Given the description of an element on the screen output the (x, y) to click on. 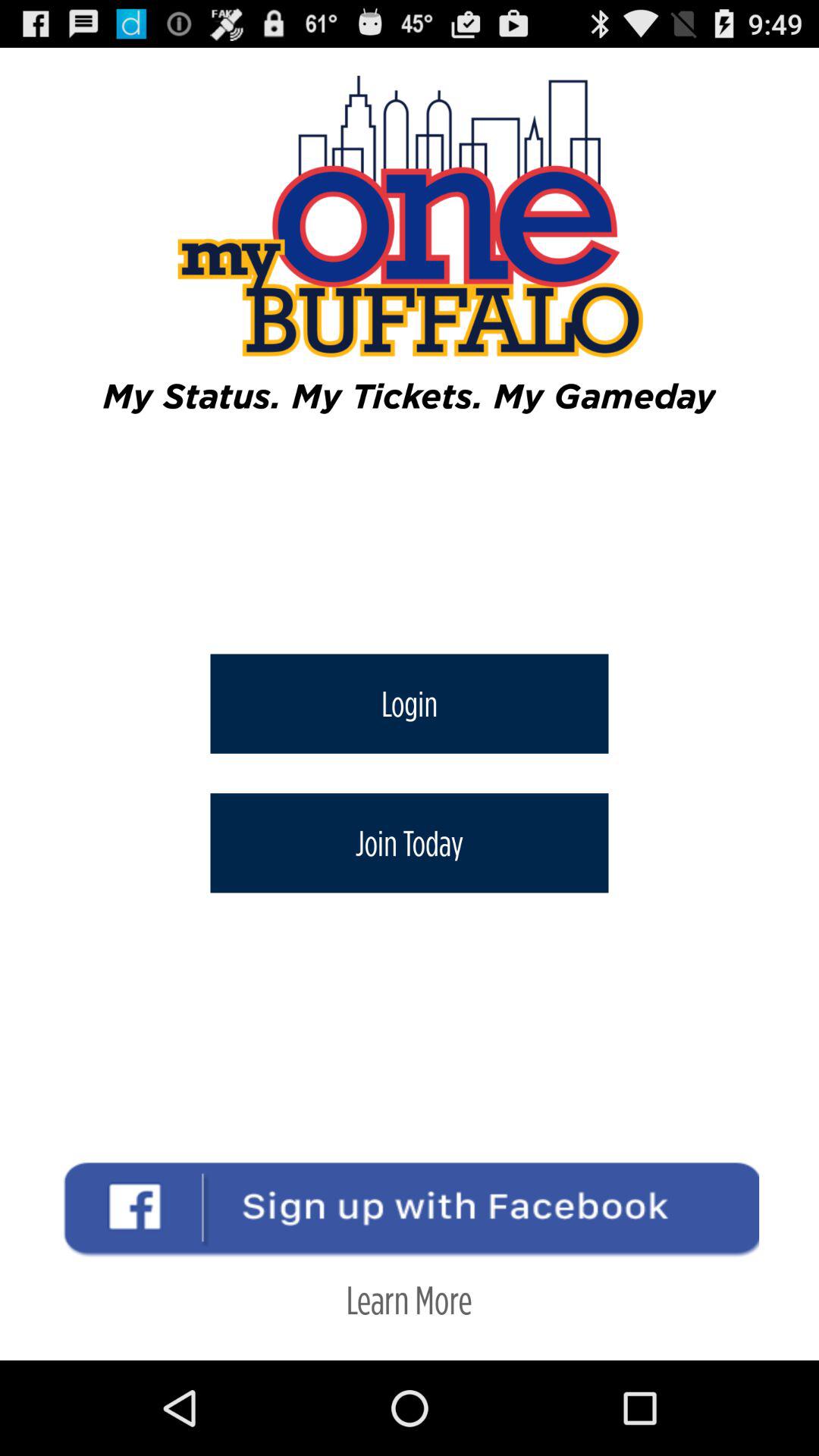
jump until join today (409, 842)
